Given the description of an element on the screen output the (x, y) to click on. 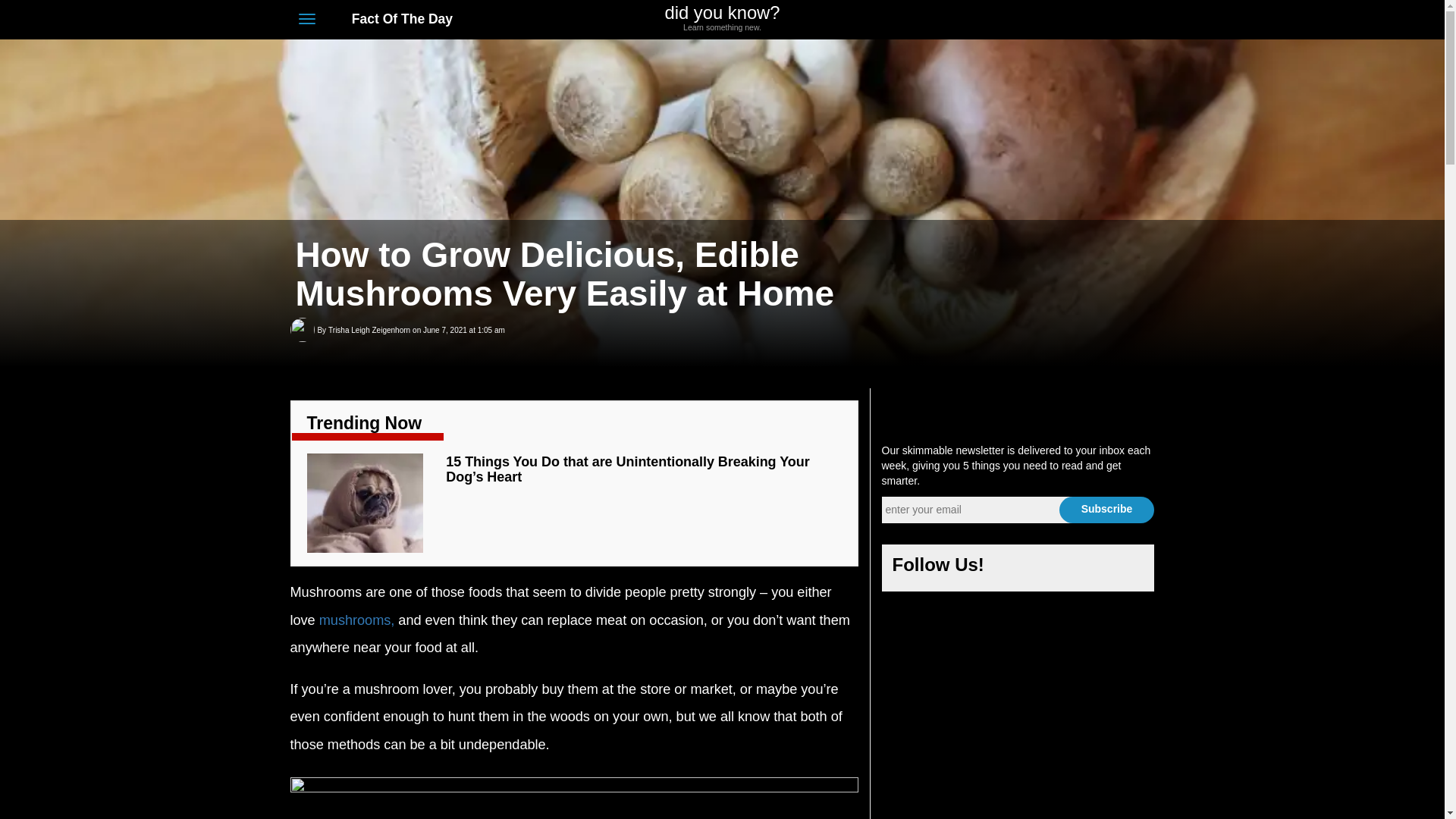
Posts by Trisha Leigh Zeigenhorn (369, 330)
Fact Of The Day (393, 18)
Tumblr (1119, 20)
Instagram (1091, 20)
Subscribe (1106, 509)
Twitter (1063, 20)
Instagram (1091, 569)
mushrooms, (356, 620)
Twitter (1054, 569)
Trisha Leigh Zeigenhorn (369, 330)
